Given the description of an element on the screen output the (x, y) to click on. 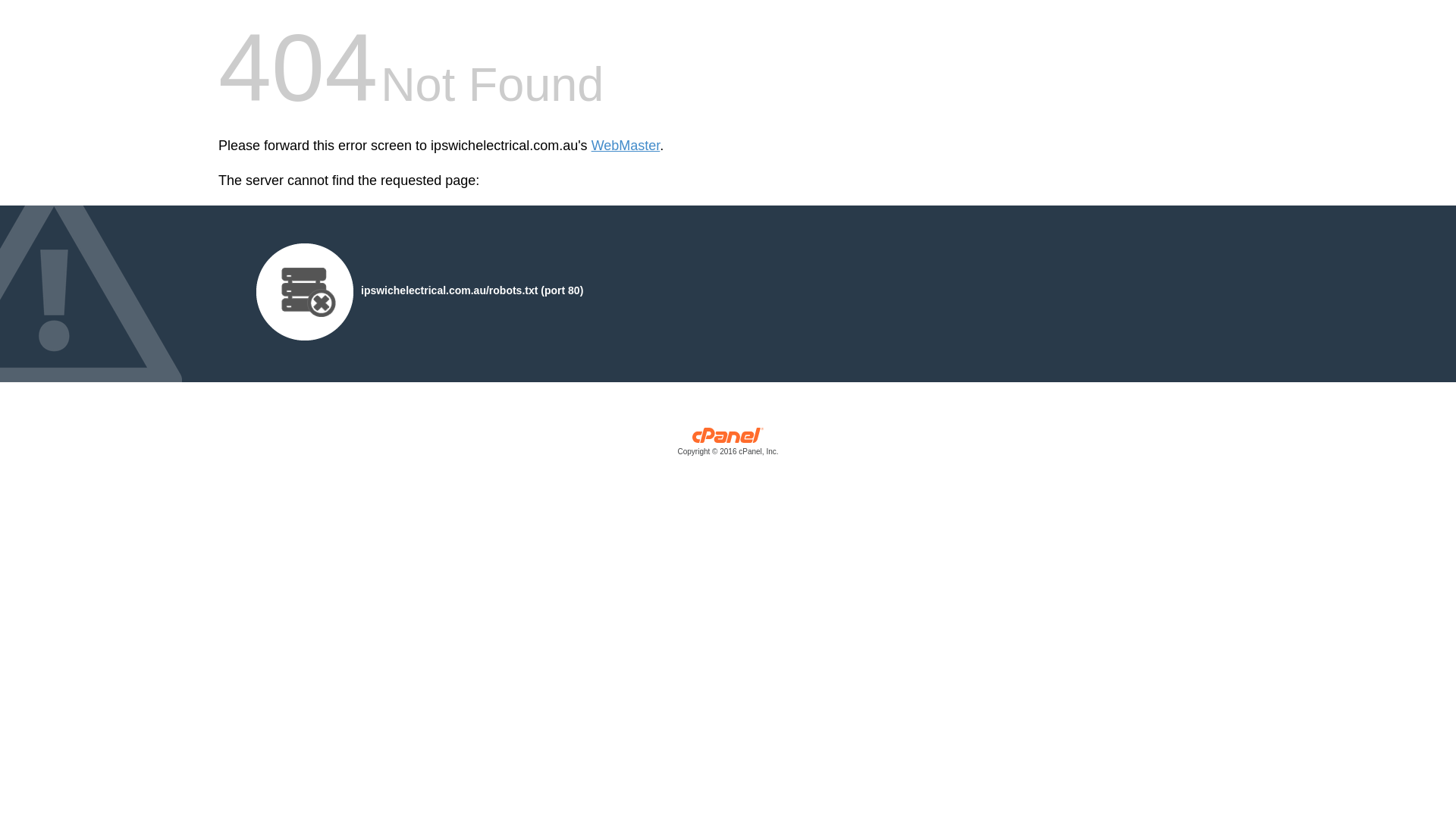
WebMaster Element type: text (625, 145)
